Given the description of an element on the screen output the (x, y) to click on. 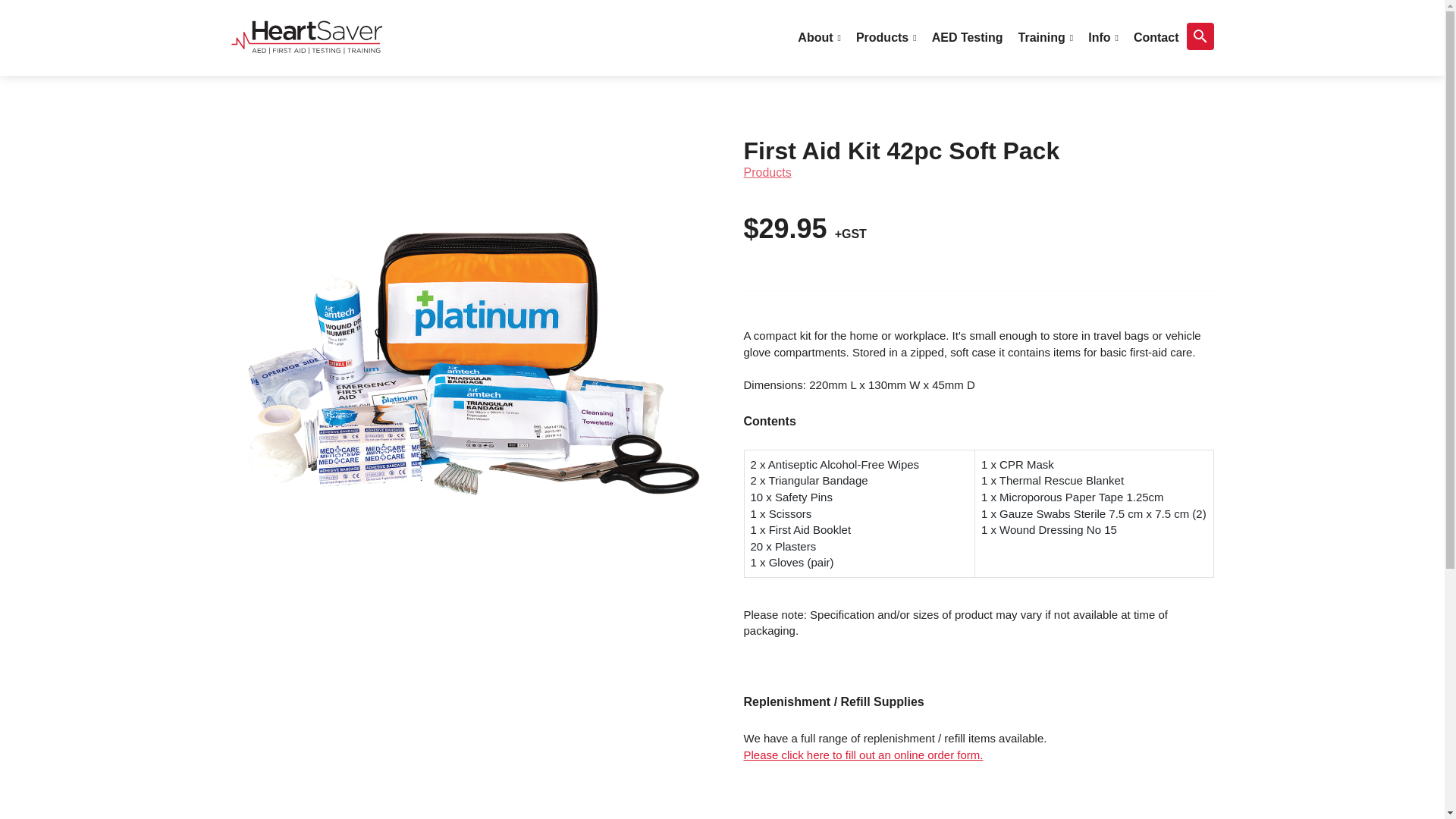
AED Testing (967, 37)
About (819, 37)
Contact (1155, 37)
Products (886, 37)
Training (1045, 37)
Please click here to fill out an online order form. (862, 754)
Info (1102, 37)
Products (766, 172)
First Aid Kit Replenishment Items Order Form (862, 754)
